Given the description of an element on the screen output the (x, y) to click on. 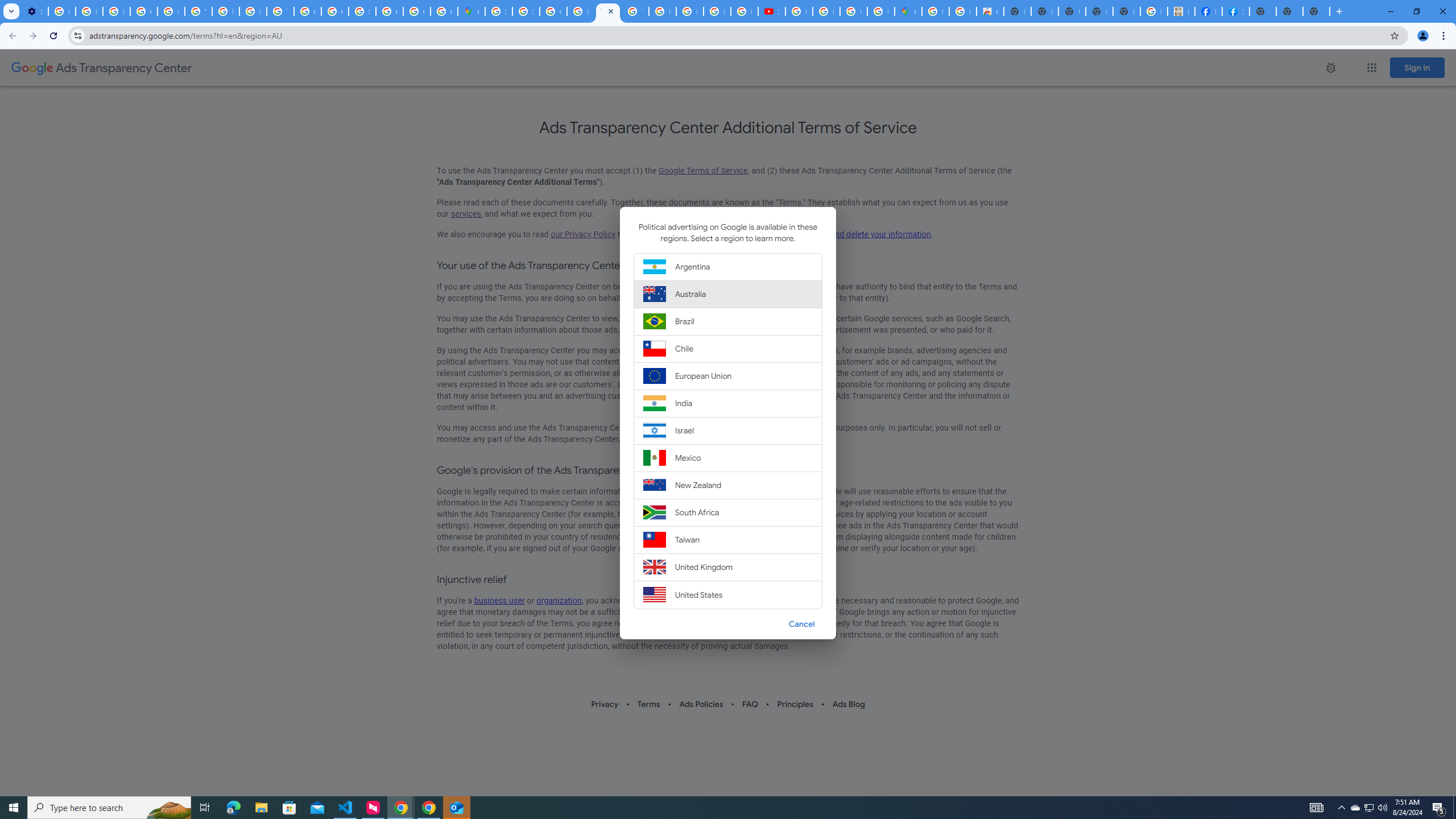
Brazil (727, 321)
Privacy Help Center - Policies Help (253, 11)
Taiwan (727, 539)
Argentina (727, 266)
our Privacy Policy (582, 234)
Learn how to find your photos - Google Photos Help (88, 11)
Principles (795, 703)
Israel (727, 430)
update, manage, export, and delete your information (835, 234)
Sign in - Google Accounts (498, 11)
New Tab (1316, 11)
